Given the description of an element on the screen output the (x, y) to click on. 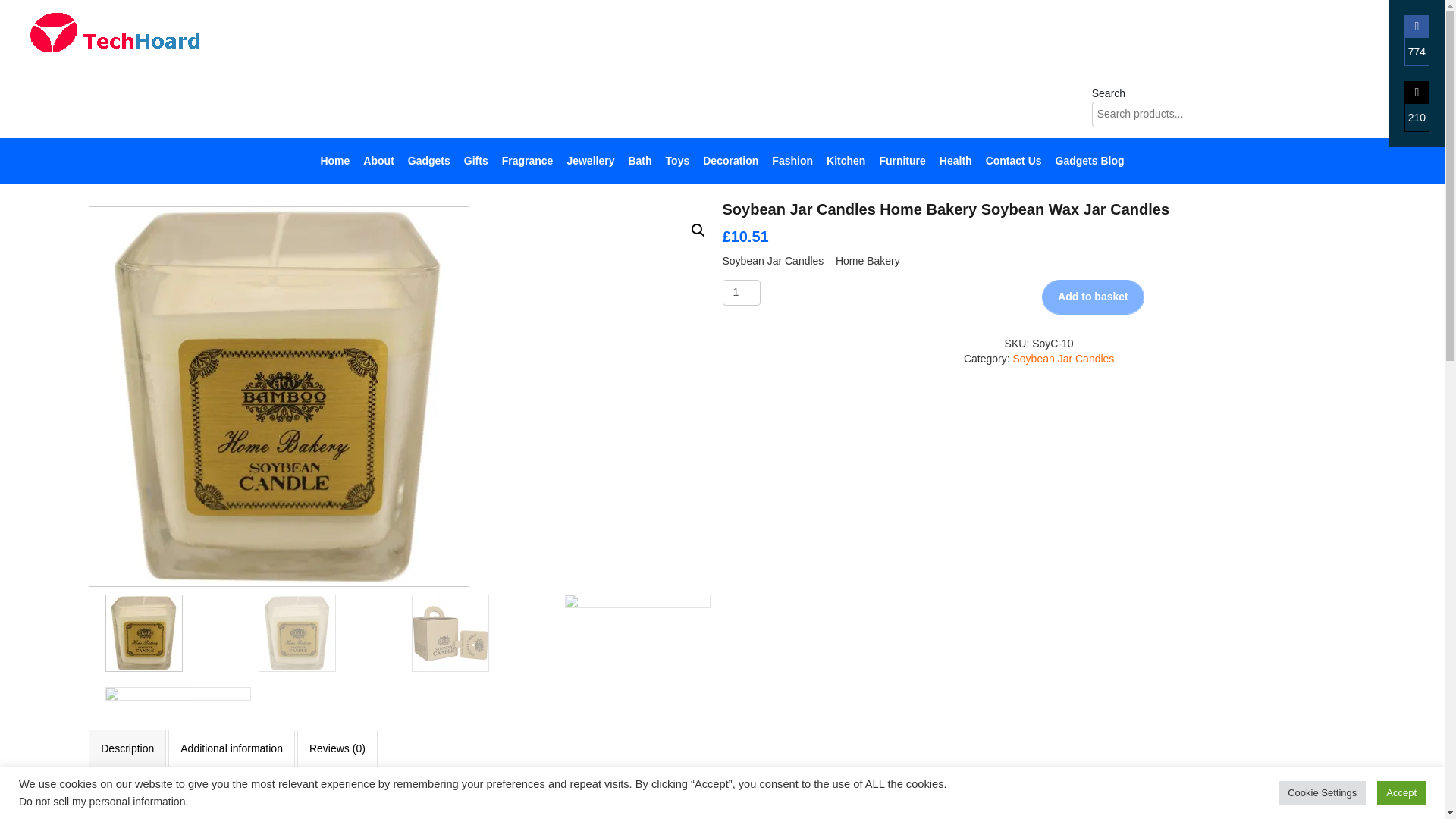
Decoration (730, 160)
Jewellery (590, 160)
Add to basket (1093, 297)
Fashion (791, 160)
Furniture (902, 160)
1 (741, 292)
Additional information (231, 749)
Soybean Jar Candles (1062, 358)
Description (126, 749)
Search (1419, 114)
Fragrance (527, 160)
Gadgets Blog (1089, 160)
Kitchen (845, 160)
